Given the description of an element on the screen output the (x, y) to click on. 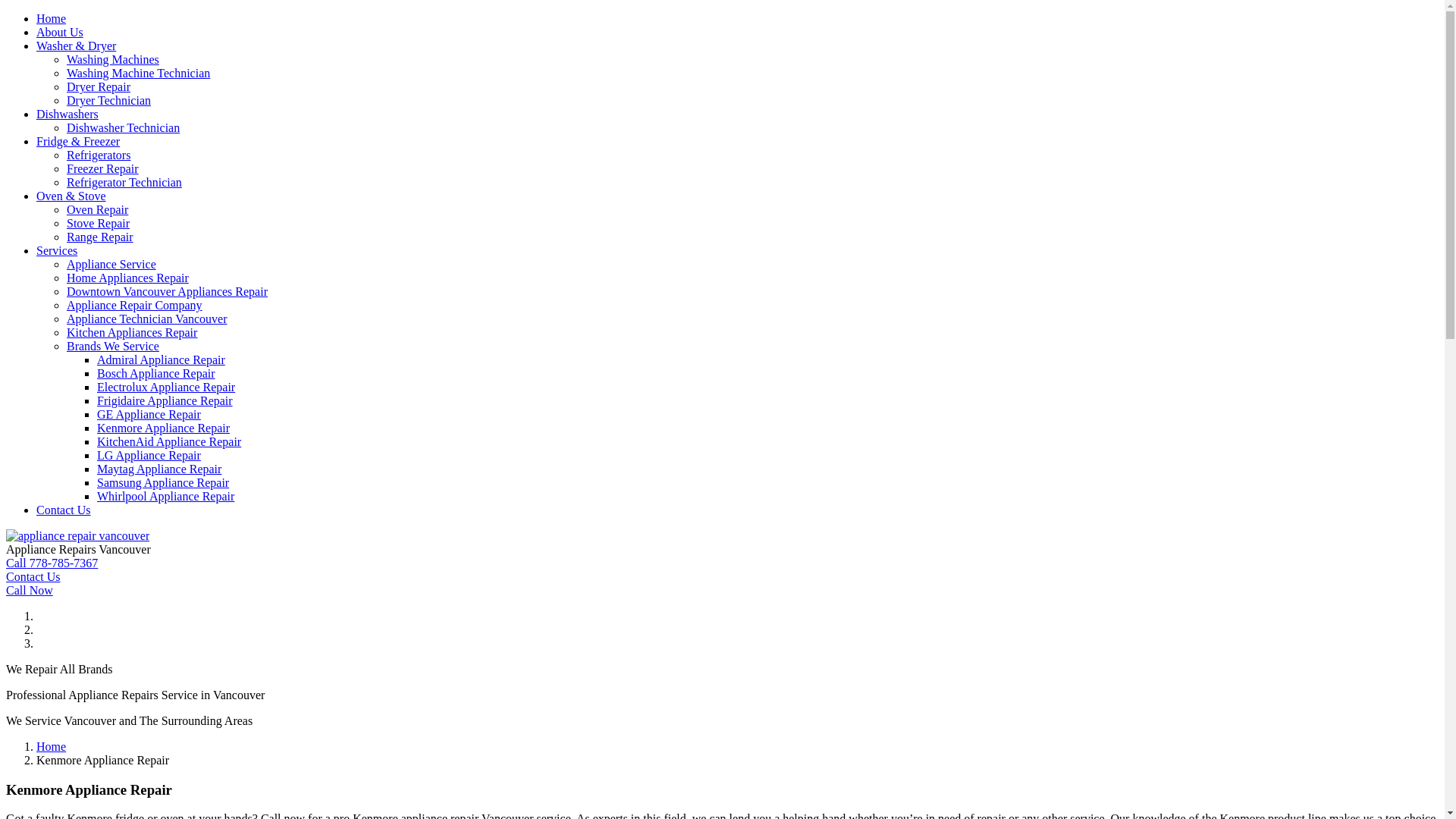
Appliance Repair Company Element type: text (134, 304)
Kitchen Appliances Repair Element type: text (131, 332)
GE Appliance Repair Element type: text (148, 413)
Maytag Appliance Repair Element type: text (159, 468)
Downtown Vancouver Appliances Repair Element type: text (166, 291)
Call 778-785-7367 Element type: text (51, 562)
Washer & Dryer Element type: text (76, 45)
Home Element type: text (50, 746)
Call Now Element type: text (29, 589)
Whirlpool Appliance Repair Element type: text (165, 495)
Home Element type: text (50, 18)
Electrolux Appliance Repair Element type: text (166, 386)
Range Repair Element type: text (99, 236)
Oven Repair Element type: text (97, 209)
Brands We Service Element type: text (112, 345)
Home Appliances Repair Element type: text (127, 277)
Contact Us Element type: text (33, 576)
Kenmore Appliance Repair Element type: text (163, 427)
Samsung Appliance Repair Element type: text (163, 482)
Freezer Repair Element type: text (102, 168)
Bosch Appliance Repair Element type: text (156, 373)
Refrigerator Technician Element type: text (124, 181)
Appliance Technician Vancouver Element type: text (146, 318)
Dishwashers Element type: text (67, 113)
Oven & Stove Element type: text (71, 195)
About Us Element type: text (59, 31)
Stove Repair Element type: text (97, 222)
Services Element type: text (56, 250)
LG Appliance Repair Element type: text (148, 454)
Contact Us Element type: text (63, 509)
Refrigerators Element type: text (98, 154)
Dishwasher Technician Element type: text (122, 127)
KitchenAid Appliance Repair Element type: text (169, 441)
Fridge & Freezer Element type: text (77, 140)
Dryer Technician Element type: text (108, 100)
Appliance Service Element type: text (111, 263)
Admiral Appliance Repair Element type: text (161, 359)
Dryer Repair Element type: text (98, 86)
Washing Machine Technician Element type: text (138, 72)
Frigidaire Appliance Repair Element type: text (164, 400)
Washing Machines Element type: text (112, 59)
